Given the description of an element on the screen output the (x, y) to click on. 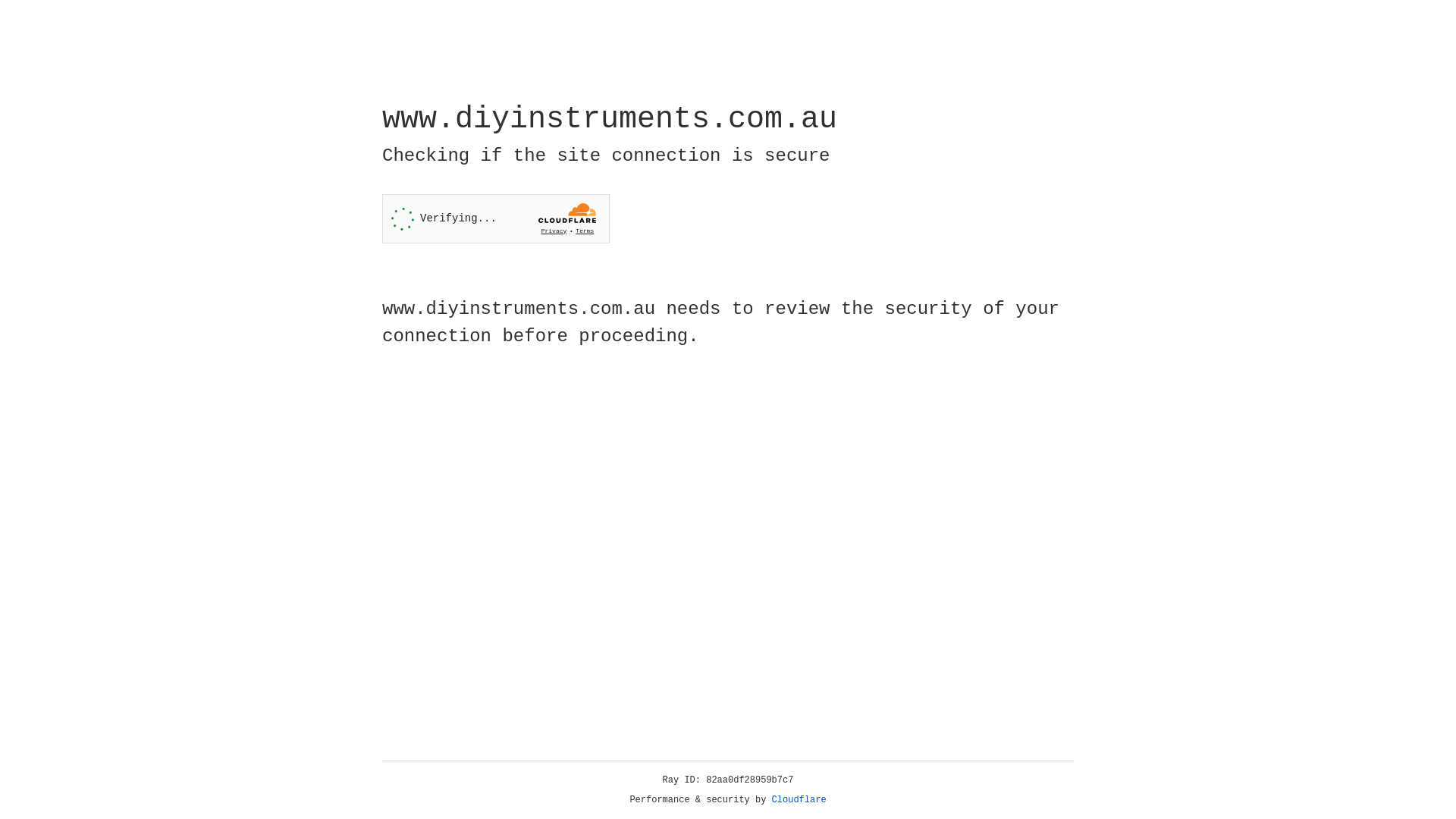
Cloudflare Element type: text (798, 799)
Widget containing a Cloudflare security challenge Element type: hover (495, 218)
